Given the description of an element on the screen output the (x, y) to click on. 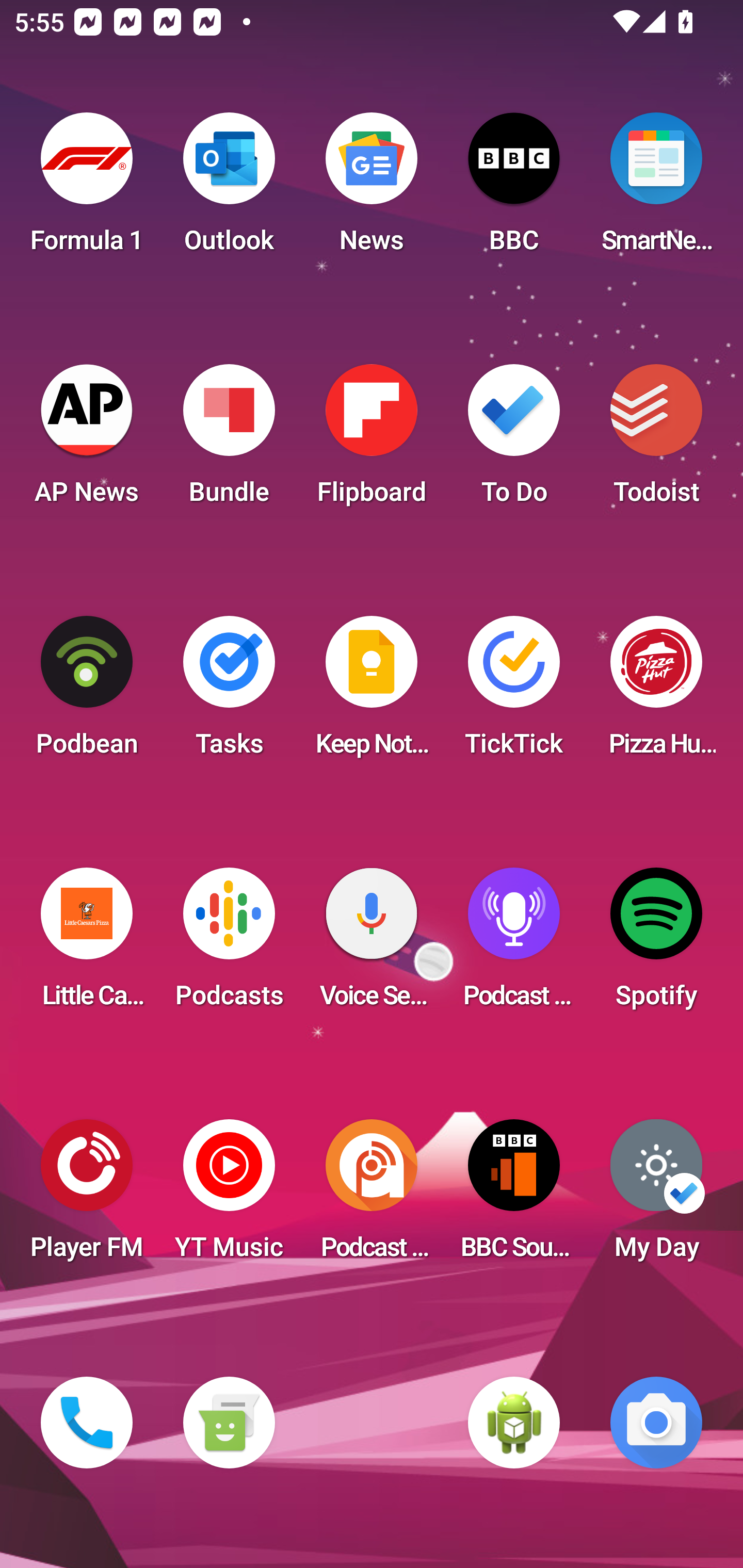
Formula 1 (86, 188)
Outlook (228, 188)
News (371, 188)
BBC (513, 188)
SmartNews (656, 188)
AP News (86, 440)
Bundle (228, 440)
Flipboard (371, 440)
To Do (513, 440)
Todoist (656, 440)
Podbean (86, 692)
Tasks (228, 692)
Keep Notes (371, 692)
TickTick (513, 692)
Pizza Hut HK & Macau (656, 692)
Little Caesars Pizza (86, 943)
Podcasts (228, 943)
Voice Search (371, 943)
Podcast Player (513, 943)
Spotify (656, 943)
Player FM (86, 1195)
YT Music (228, 1195)
Podcast Addict (371, 1195)
BBC Sounds (513, 1195)
My Day (656, 1195)
Phone (86, 1422)
Messaging (228, 1422)
WebView Browser Tester (513, 1422)
Camera (656, 1422)
